Given the description of an element on the screen output the (x, y) to click on. 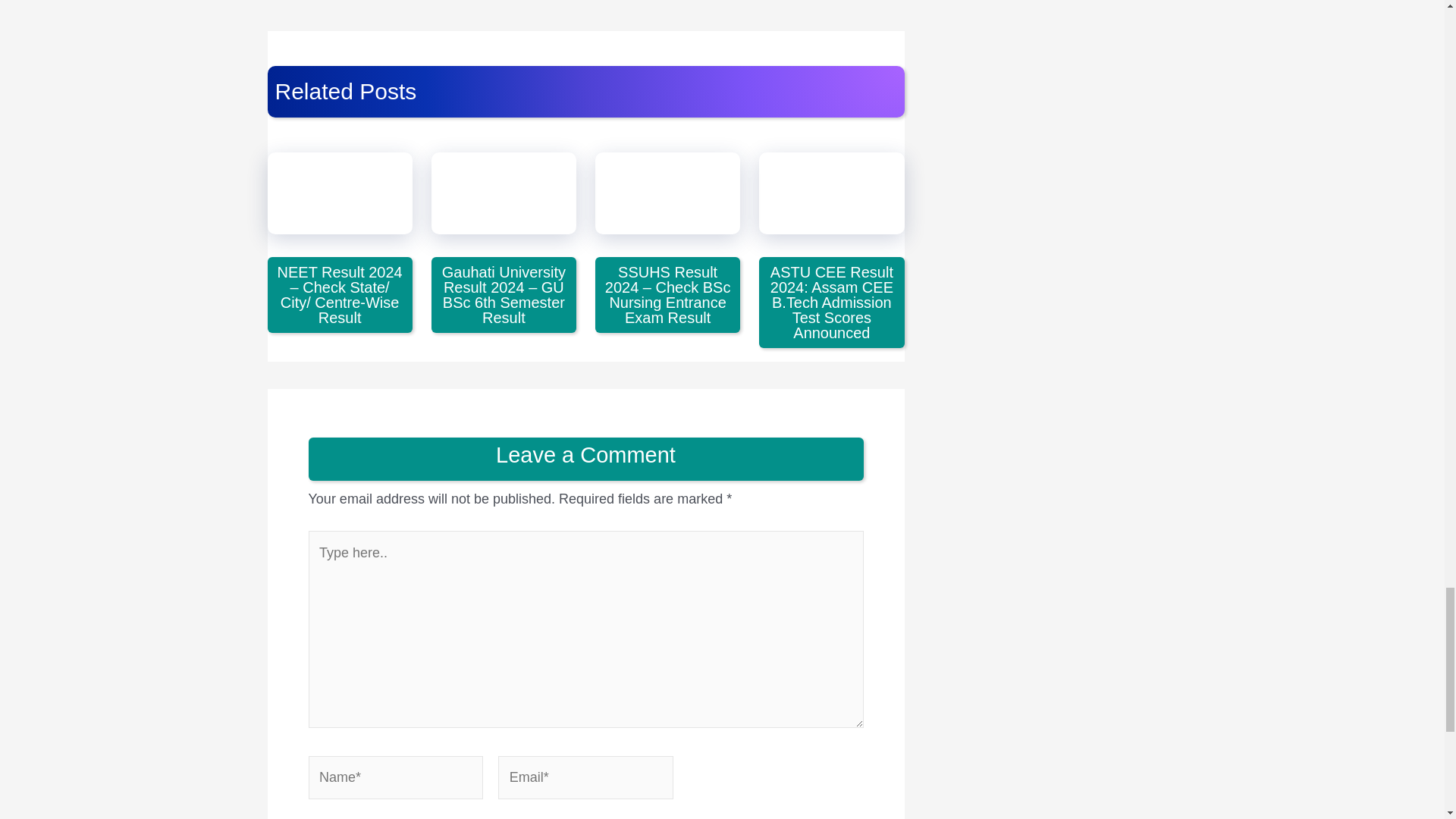
NEET Result (339, 193)
Gauhati University Result 2024 (503, 193)
ASTU CEE Result 2024 (831, 193)
